Given the description of an element on the screen output the (x, y) to click on. 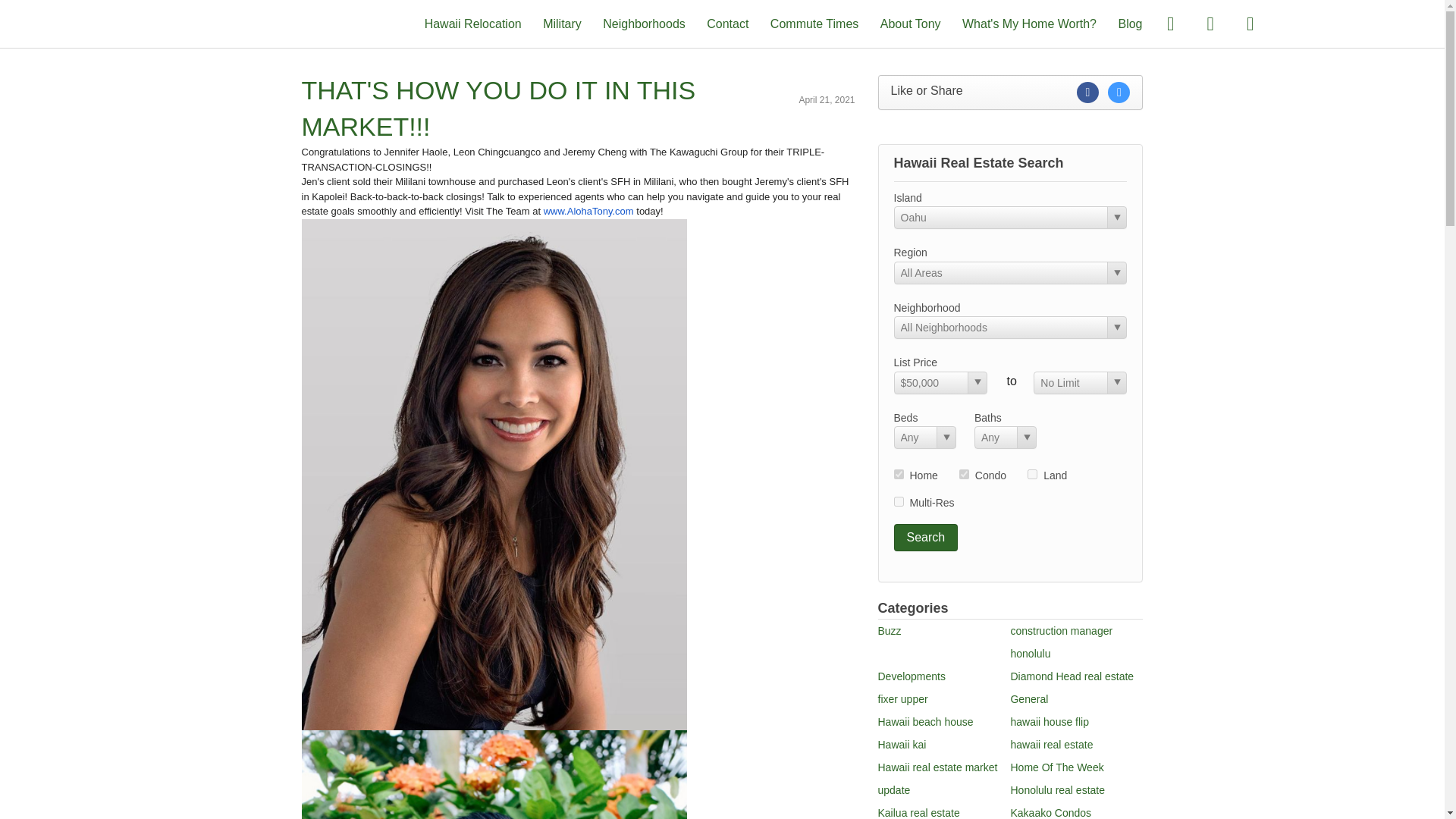
Buzz (889, 630)
Home Of The Week (1056, 767)
con (964, 474)
About Tony (910, 23)
hawaii house flip (1049, 721)
mul (897, 501)
lnd (1031, 474)
Hawaii real estate market update (937, 778)
Hawaii kai (901, 744)
Diamond Head real estate (1072, 676)
